Given the description of an element on the screen output the (x, y) to click on. 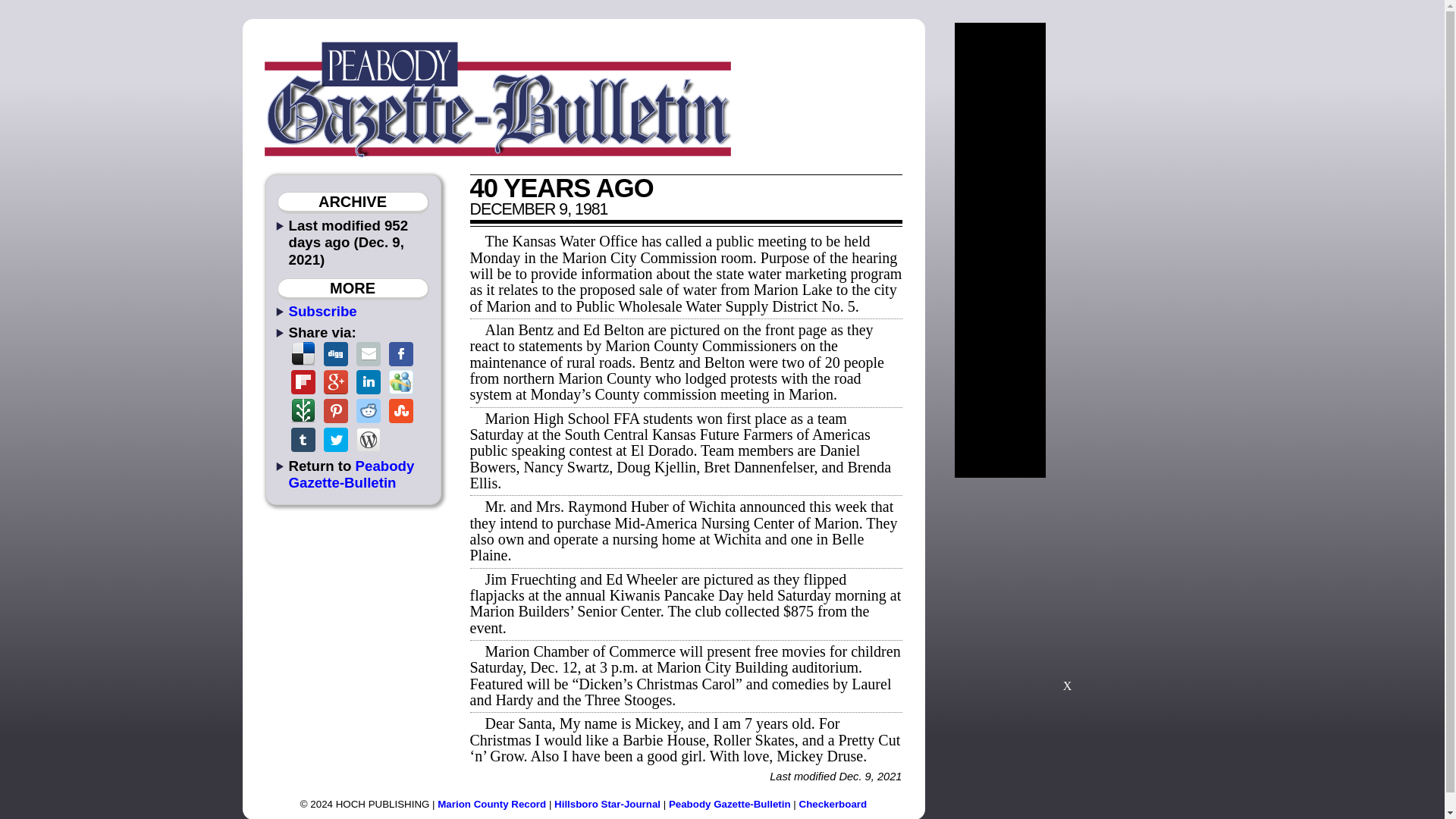
Peabody Gazette-Bulletin (350, 473)
Checkerboard (833, 803)
Advertisement (1067, 591)
Subscribe (322, 311)
Peabody Gazette-Bulletin (729, 803)
Marion County Record (492, 803)
Hillsboro Star-Journal (607, 803)
Advertisement (1123, 249)
